Given the description of an element on the screen output the (x, y) to click on. 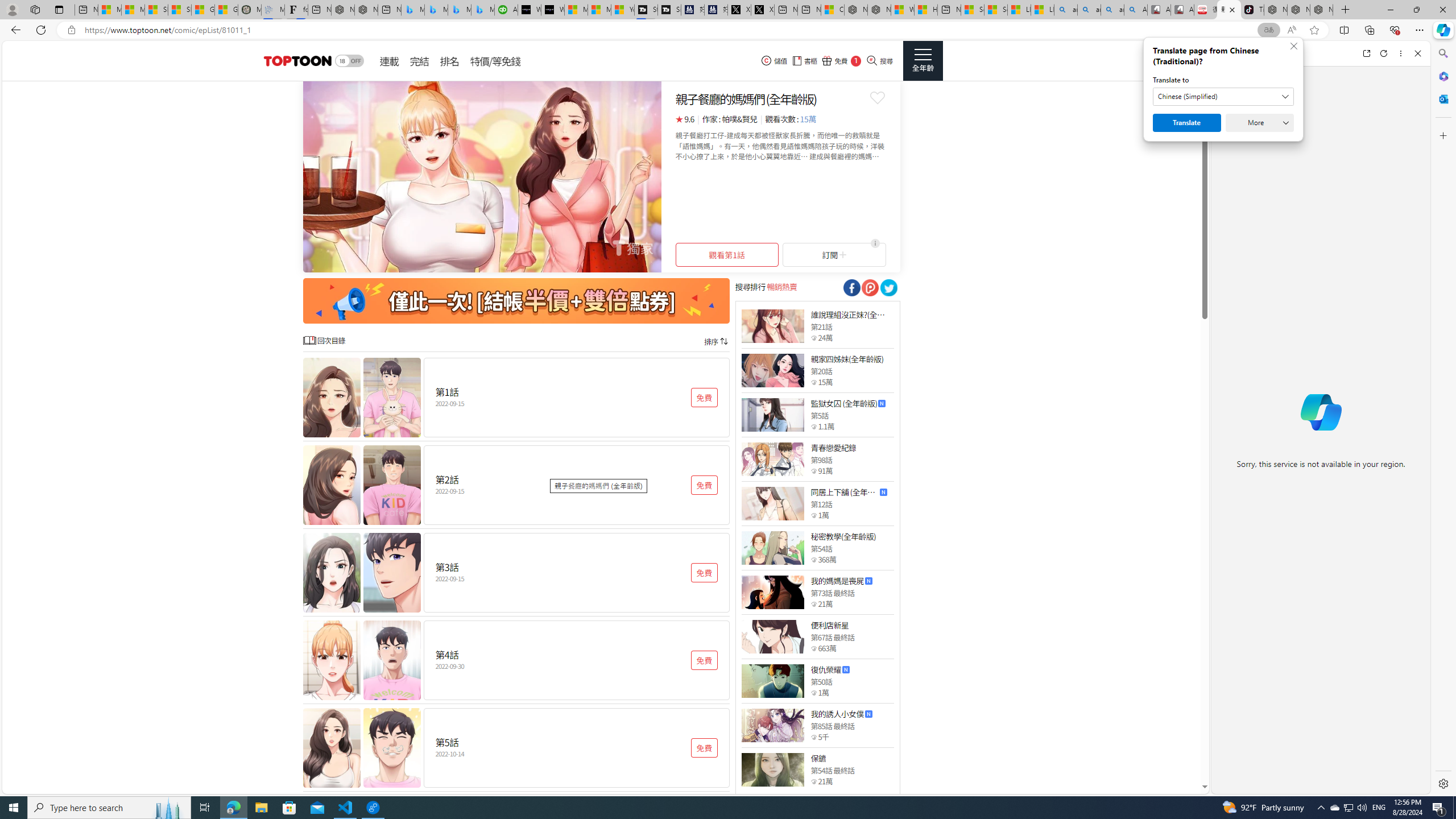
All Cubot phones (1182, 9)
Huge shark washes ashore at New York City beach | Watch (926, 9)
X (761, 9)
Compose (1280, 52)
TikTok (1252, 9)
